Given the description of an element on the screen output the (x, y) to click on. 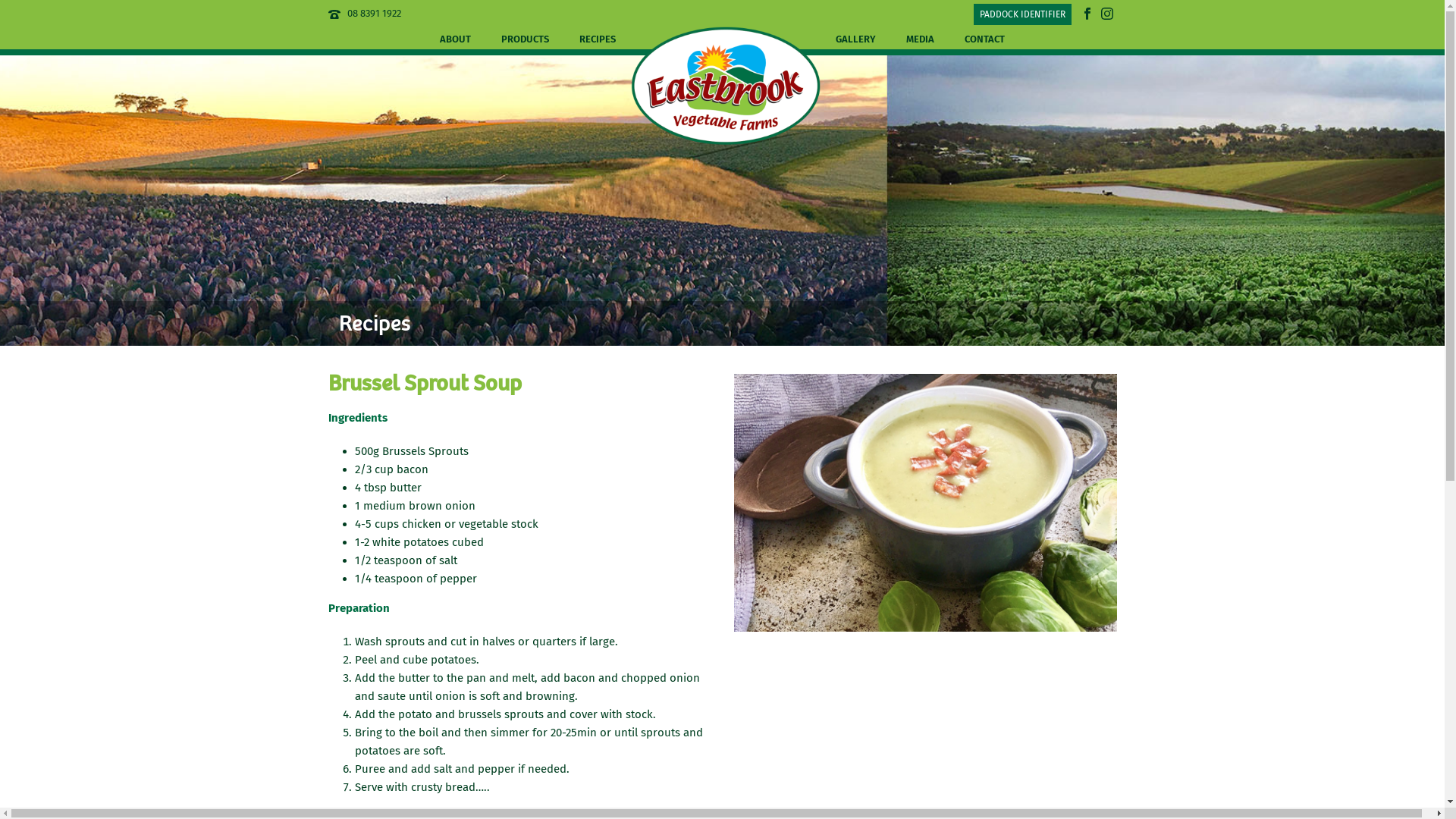
Eastbrook Farms Element type: hover (725, 37)
GALLERY Element type: text (855, 37)
ABOUT Element type: text (455, 37)
Brussel Sprout Soup Element type: hover (925, 502)
PADDOCK IDENTIFIER Element type: text (1022, 14)
Brussel Sprout Soup Element type: hover (925, 498)
08 8391 1922 Element type: text (374, 12)
CONTACT Element type: text (984, 37)
Growing premium vegetables for over 60 years Element type: hover (725, 85)
PRODUCTS Element type: text (525, 37)
MEDIA Element type: text (920, 37)
RECIPES Element type: text (597, 37)
